Given the description of an element on the screen output the (x, y) to click on. 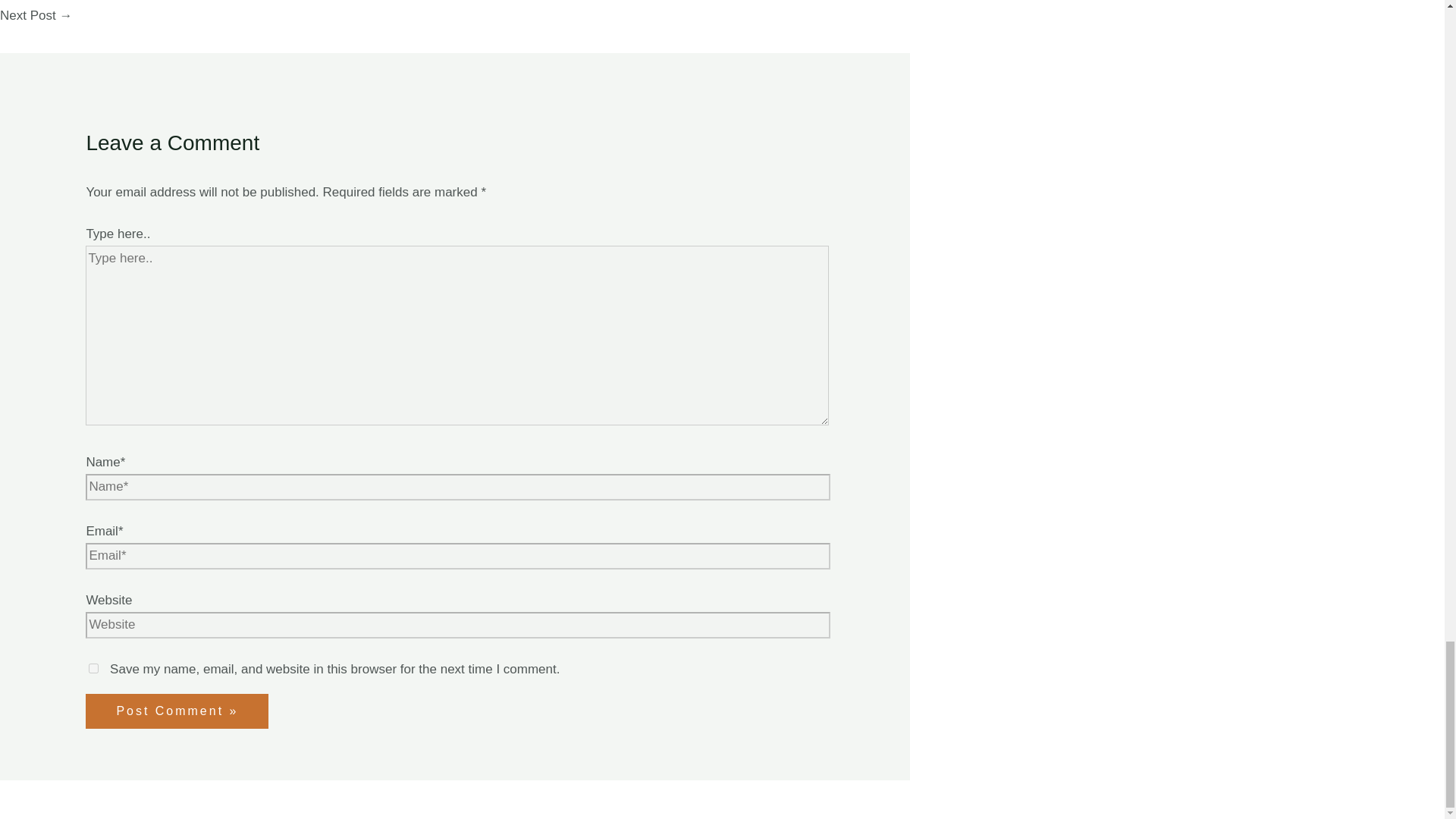
yes (93, 668)
